Given the description of an element on the screen output the (x, y) to click on. 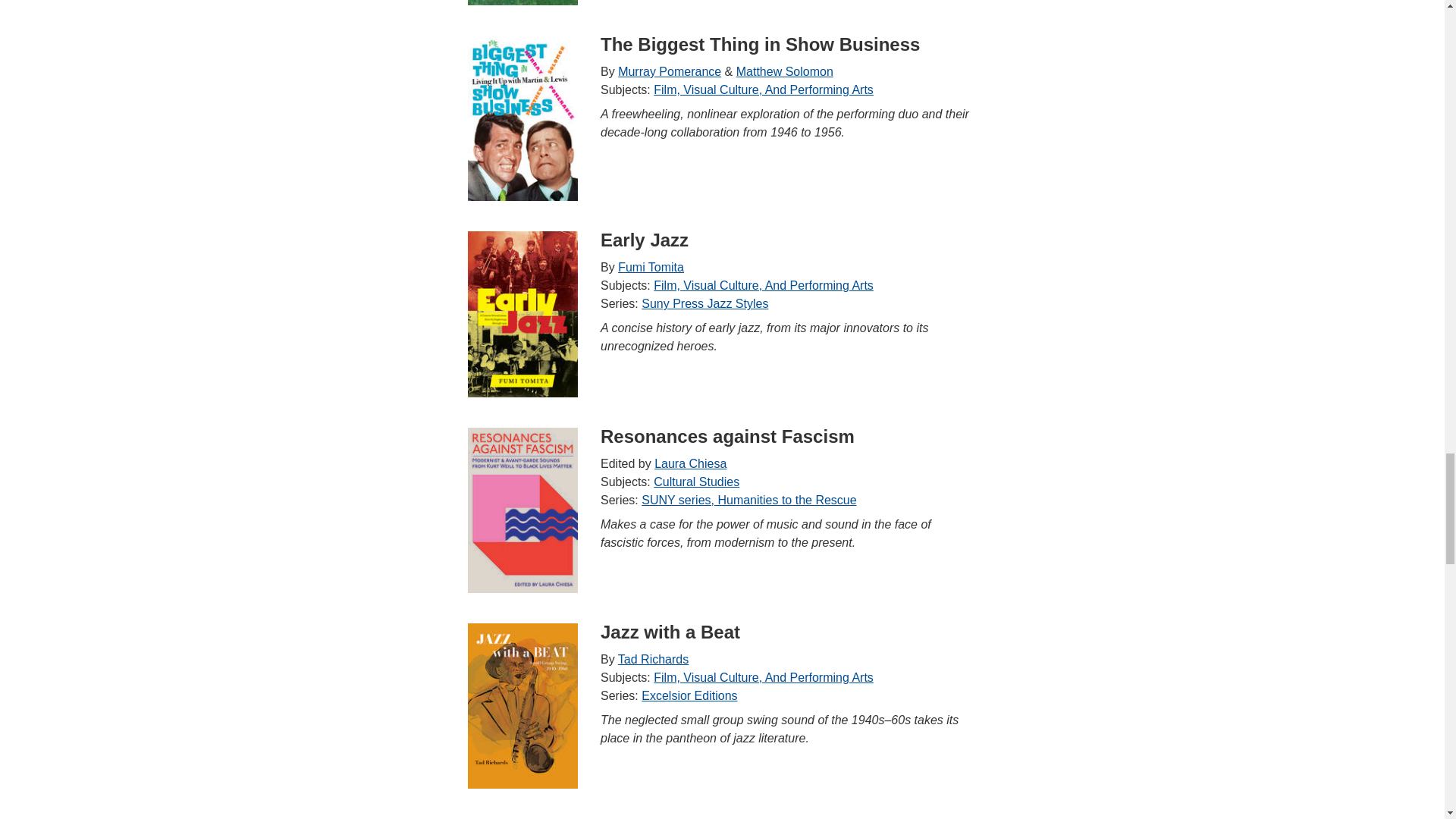
View Early Jazz (522, 313)
View The Biggest Thing in Show Business (522, 118)
View Resonances against Fascism (522, 509)
View Jazz with a Beat (522, 705)
